Given the description of an element on the screen output the (x, y) to click on. 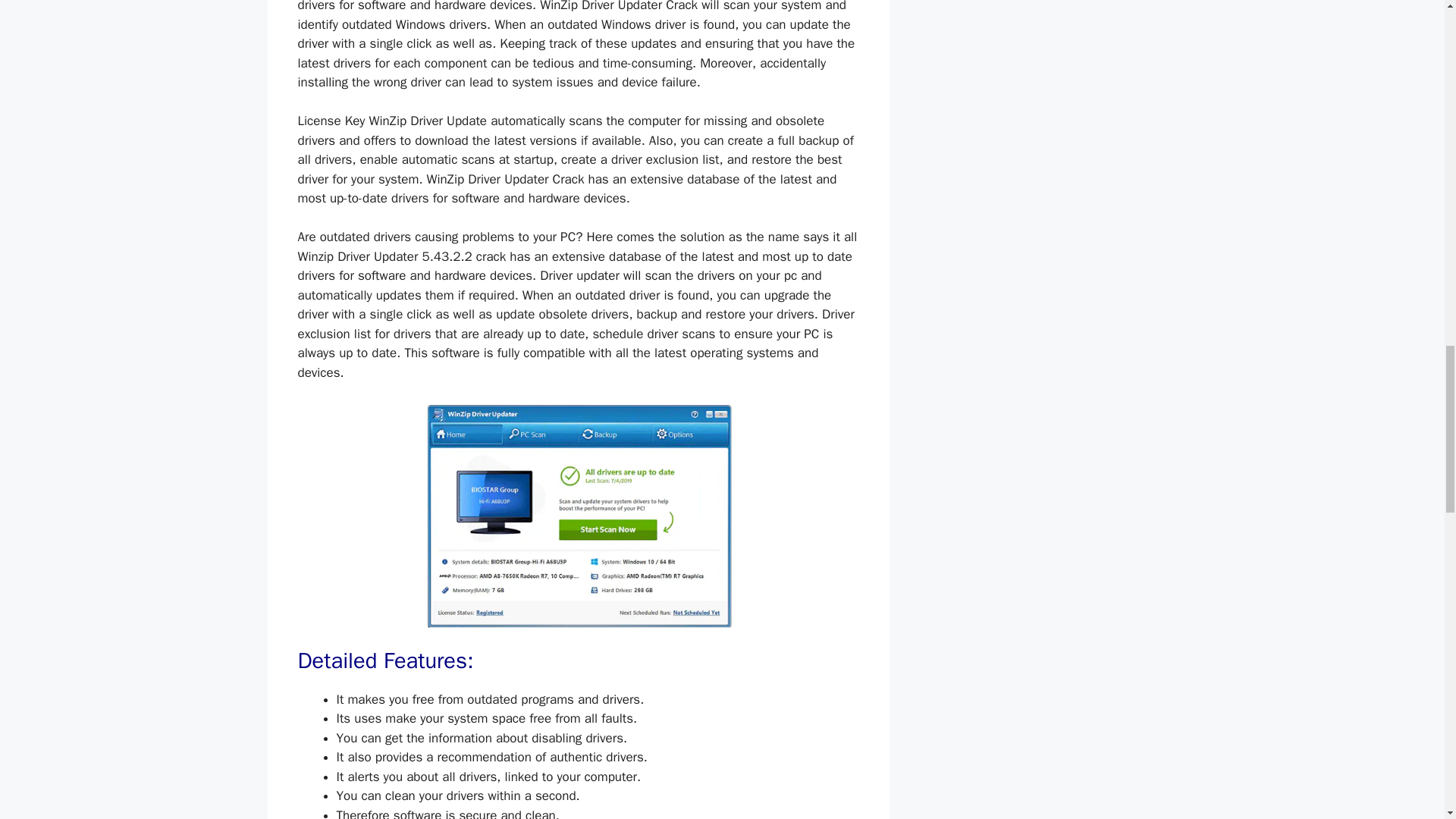
WinZip Driver Updater Crack  (577, 515)
